Given the description of an element on the screen output the (x, y) to click on. 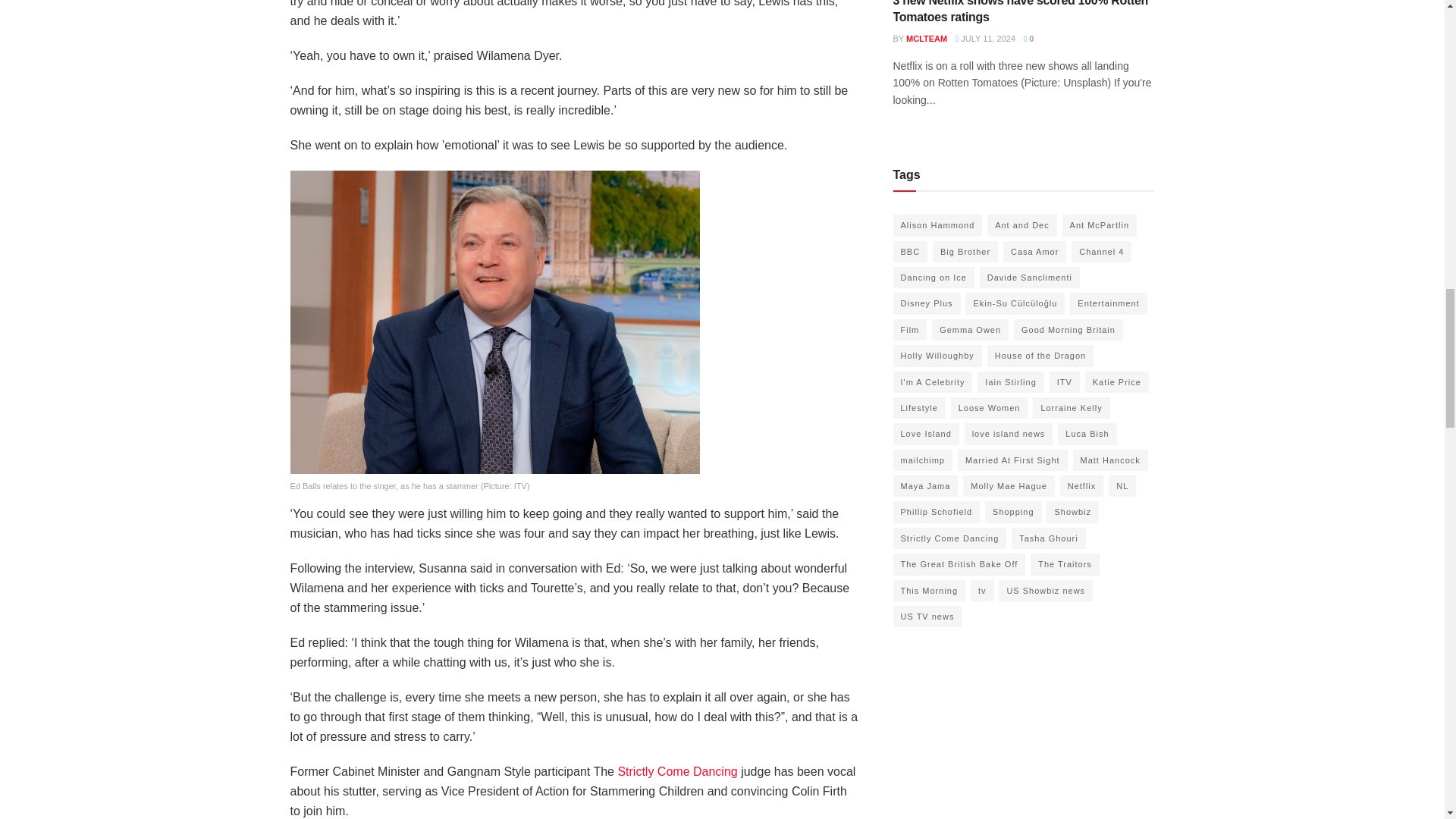
strictly come davcing (676, 771)
